Given the description of an element on the screen output the (x, y) to click on. 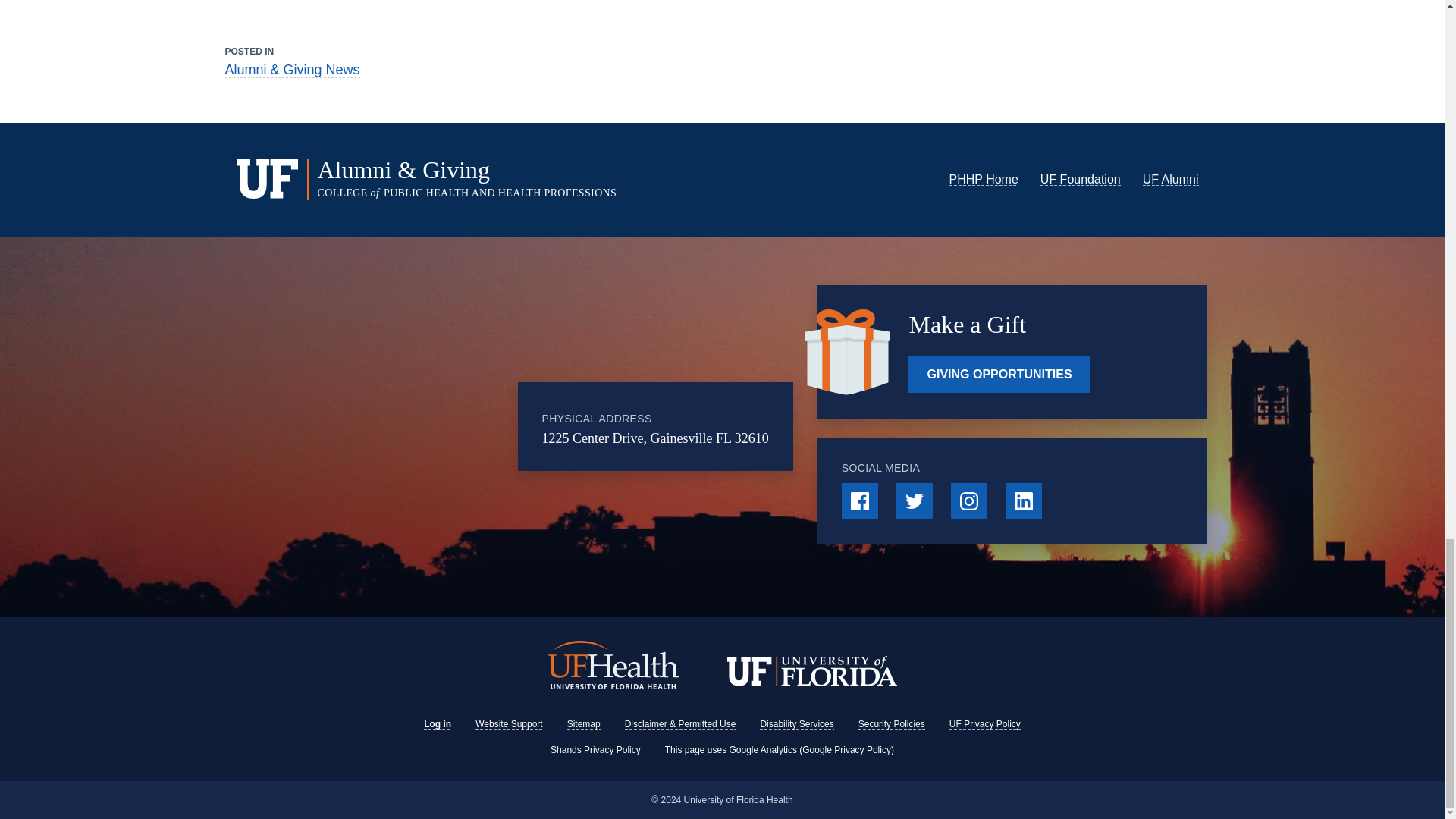
Shands Privacy Policy (595, 749)
PHHP Home (983, 178)
Website Support (509, 724)
Security Policies (891, 724)
UF Privacy Policy (984, 724)
Sitemap (583, 724)
UF Alumni (1170, 178)
Log in (437, 724)
Google Maps Embed (424, 425)
Disability Services (796, 724)
UF Foundation (1081, 178)
PHHP Home (983, 178)
